Given the description of an element on the screen output the (x, y) to click on. 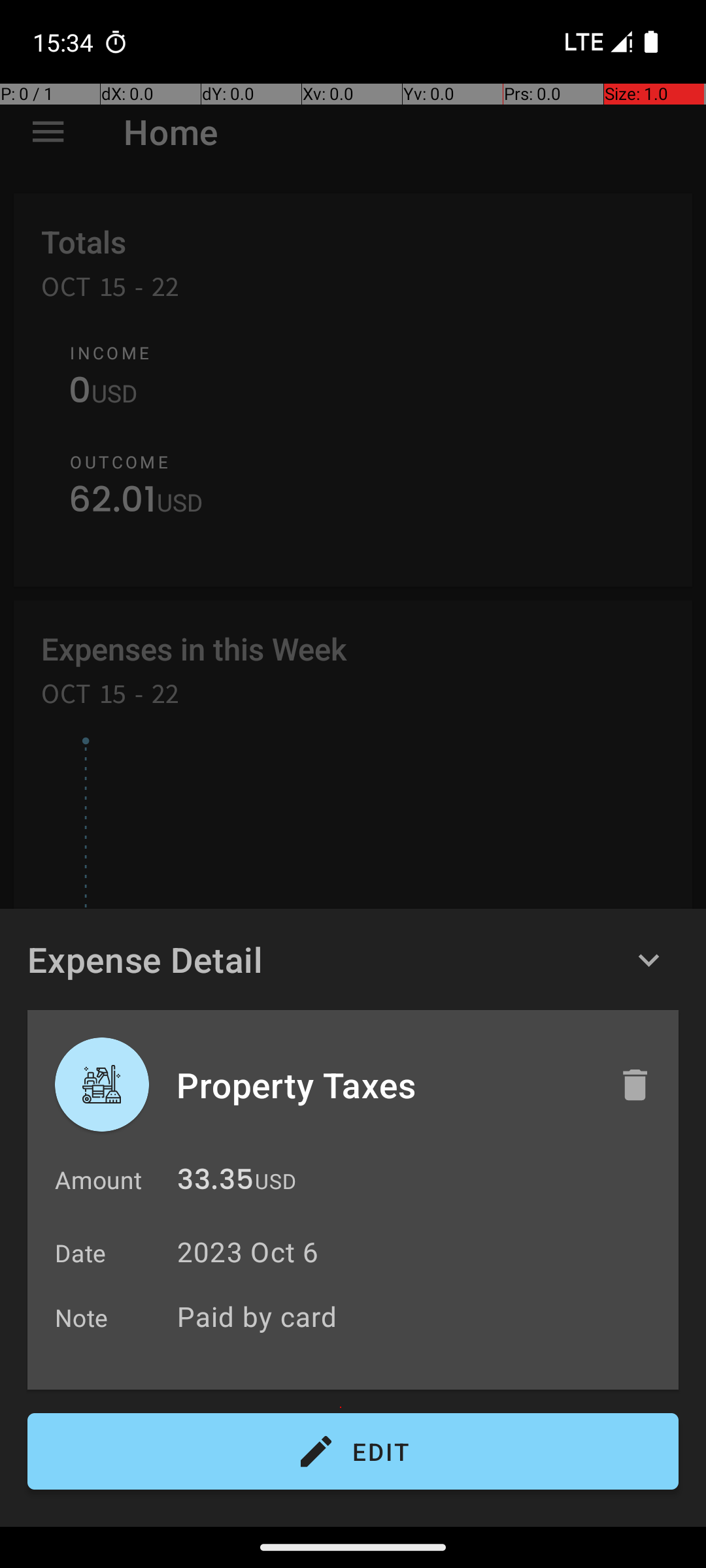
Property Taxes Element type: android.widget.TextView (383, 1084)
33.35 Element type: android.widget.TextView (215, 1182)
2023 Oct 6 Element type: android.widget.TextView (247, 1251)
